Given the description of an element on the screen output the (x, y) to click on. 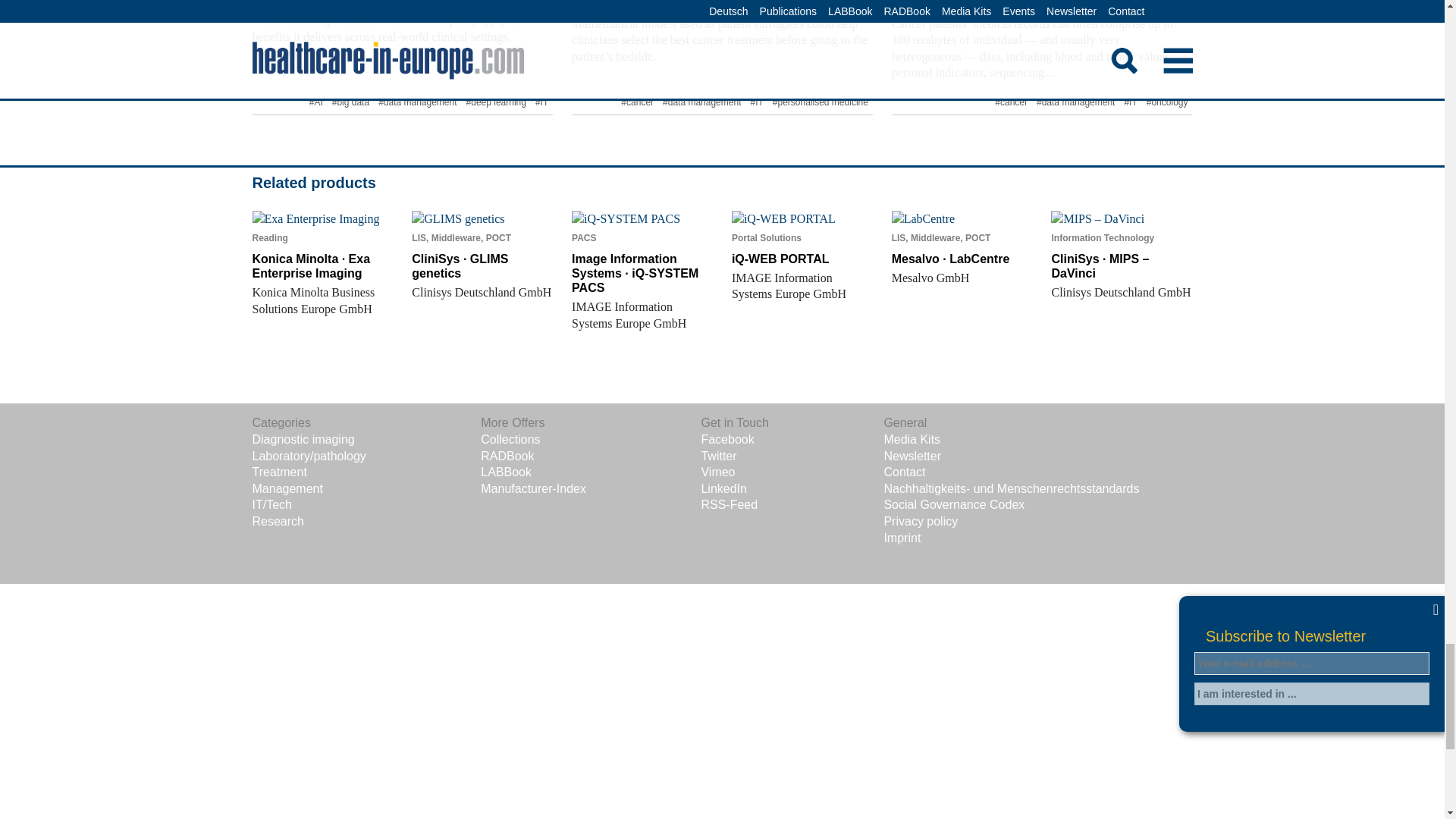
Personalizing cancer treatment with quantum computing (1021, 4)
